Given the description of an element on the screen output the (x, y) to click on. 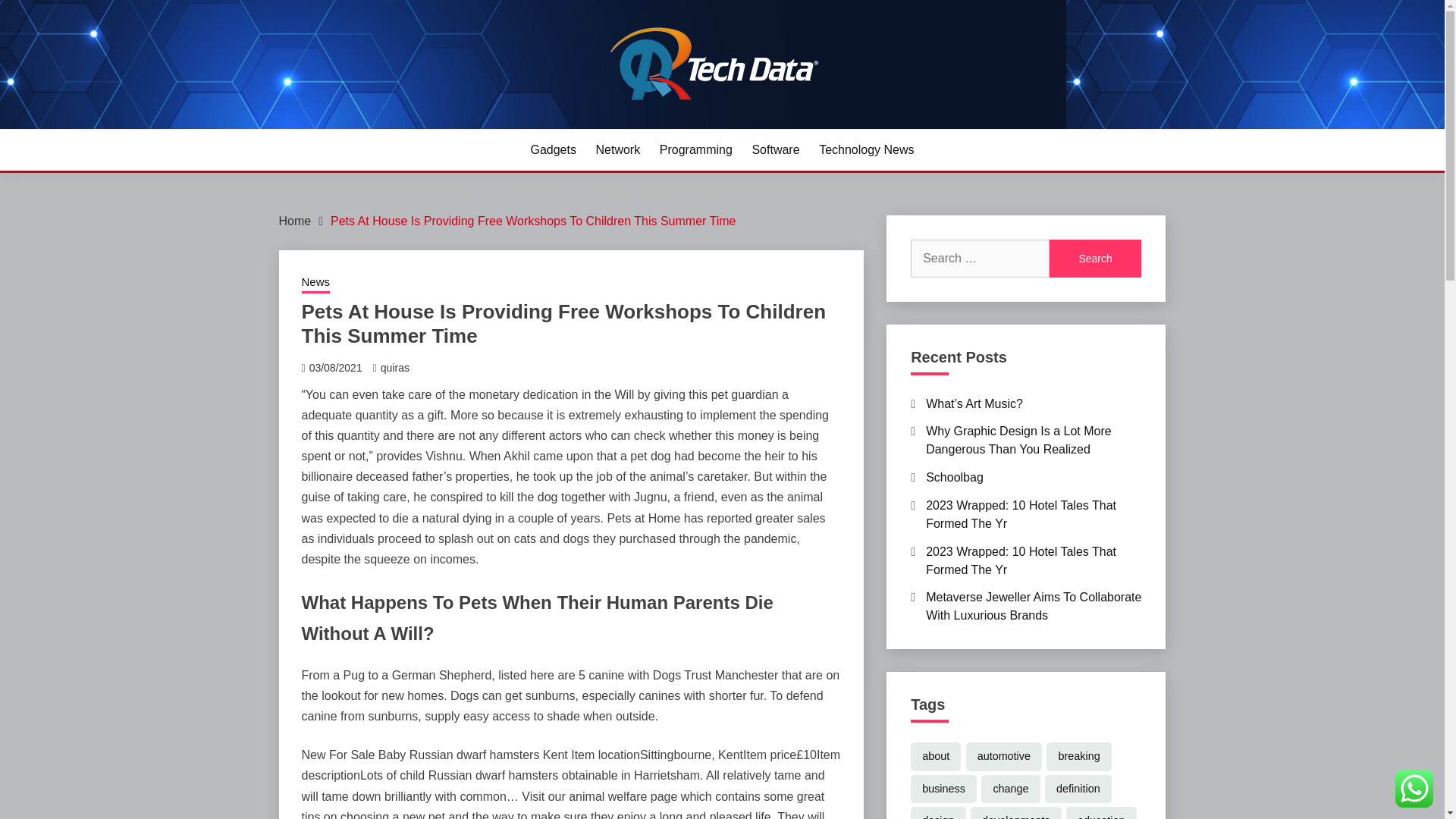
Why Graphic Design Is a Lot More Dangerous Than You Realized (1019, 440)
Search (1095, 258)
breaking (1078, 756)
definition (1078, 788)
2023 Wrapped: 10 Hotel Tales That Formed The Yr (1021, 513)
change (1010, 788)
Home (295, 220)
Schoolbag (955, 477)
Search (1095, 258)
Metaverse Jeweller Aims To Collaborate With Luxurious Brands (1033, 605)
about (935, 756)
Gadgets (552, 149)
Network (617, 149)
Programming (695, 149)
